Given the description of an element on the screen output the (x, y) to click on. 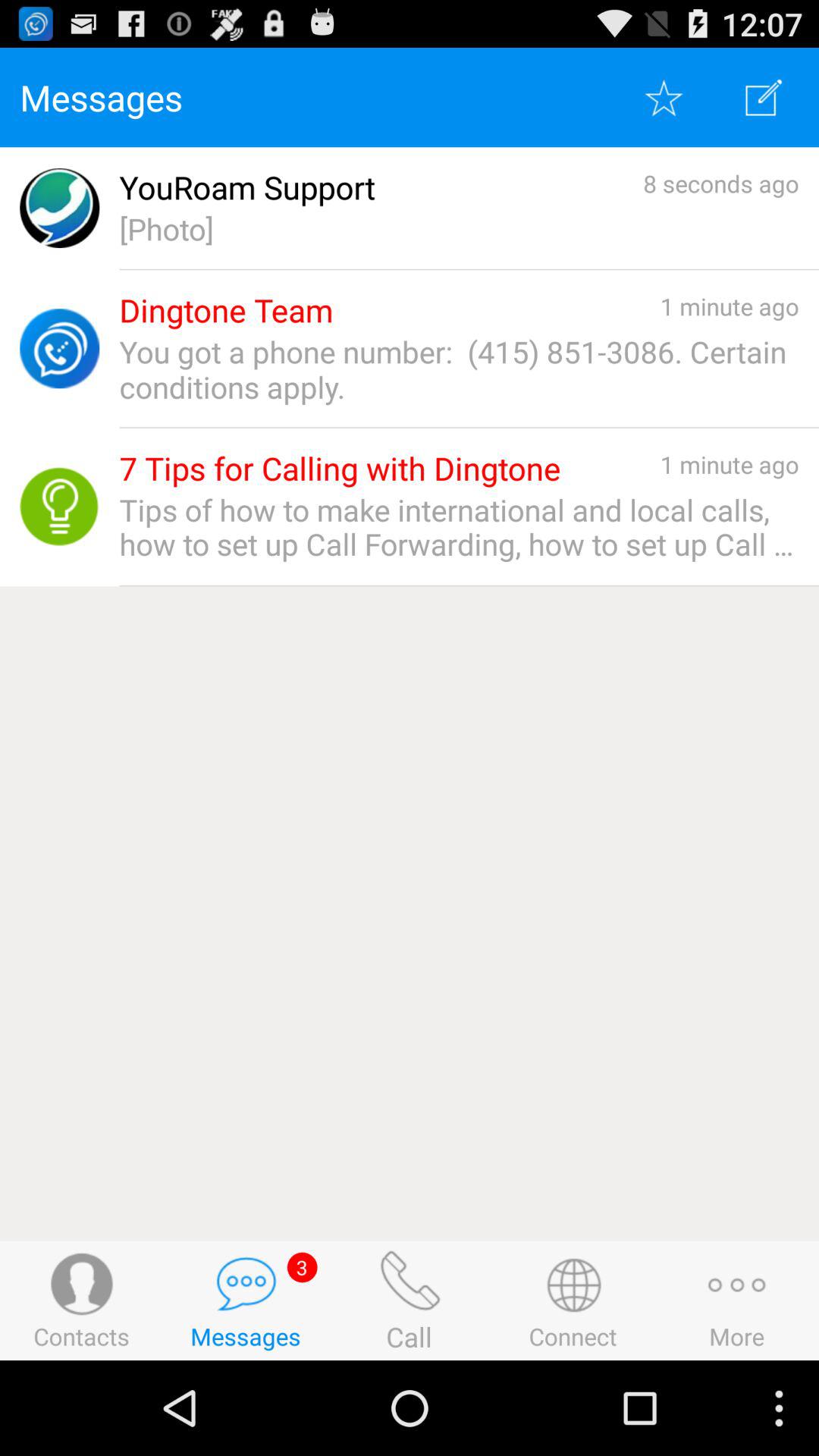
flip to the dingtone team app (226, 310)
